Given the description of an element on the screen output the (x, y) to click on. 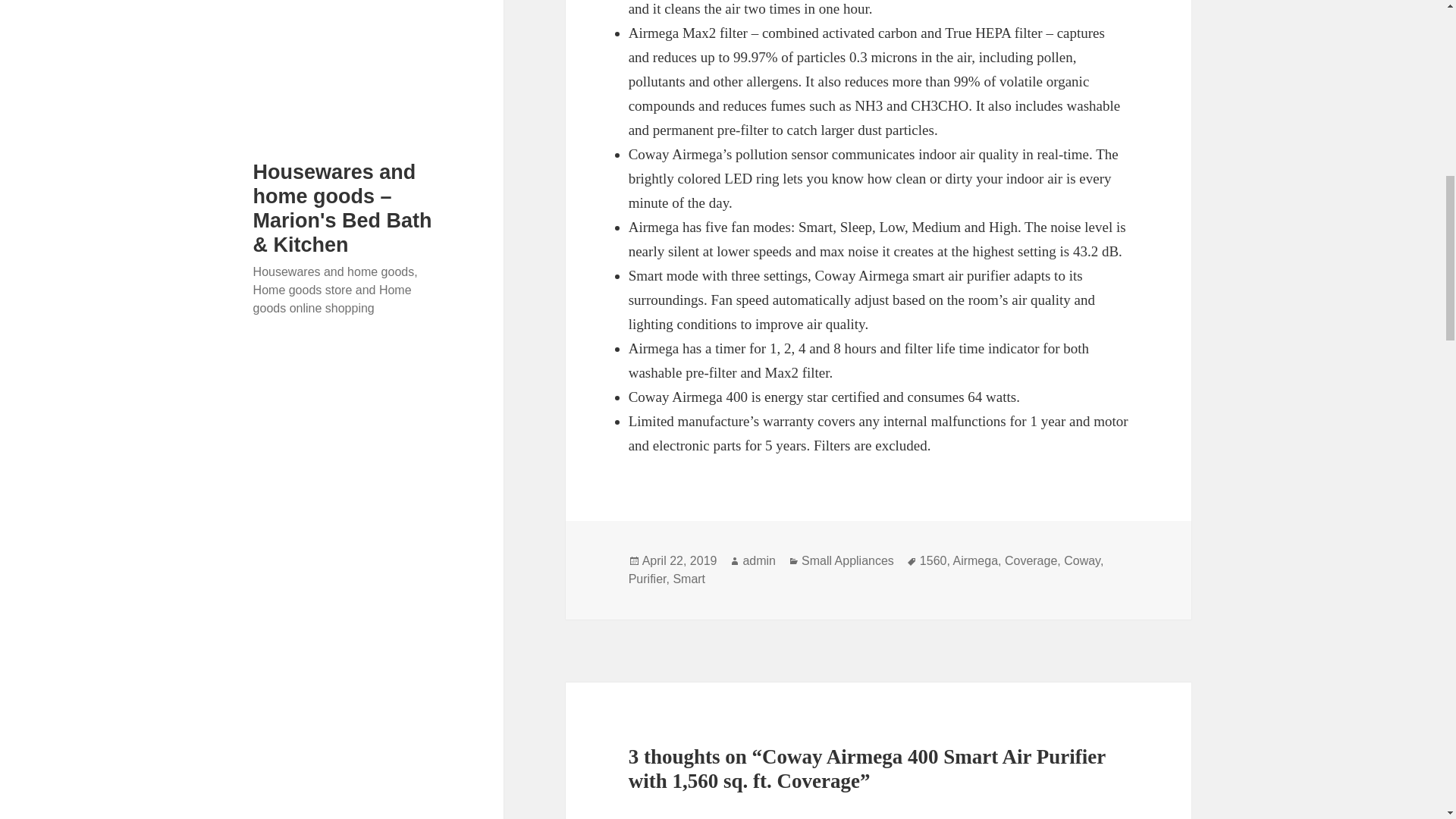
Purifier (647, 579)
1560 (933, 561)
Coway (1082, 561)
April 22, 2019 (679, 561)
admin (759, 561)
Coverage (1030, 561)
Smart (688, 579)
Small Appliances (847, 561)
Airmega (974, 561)
